Given the description of an element on the screen output the (x, y) to click on. 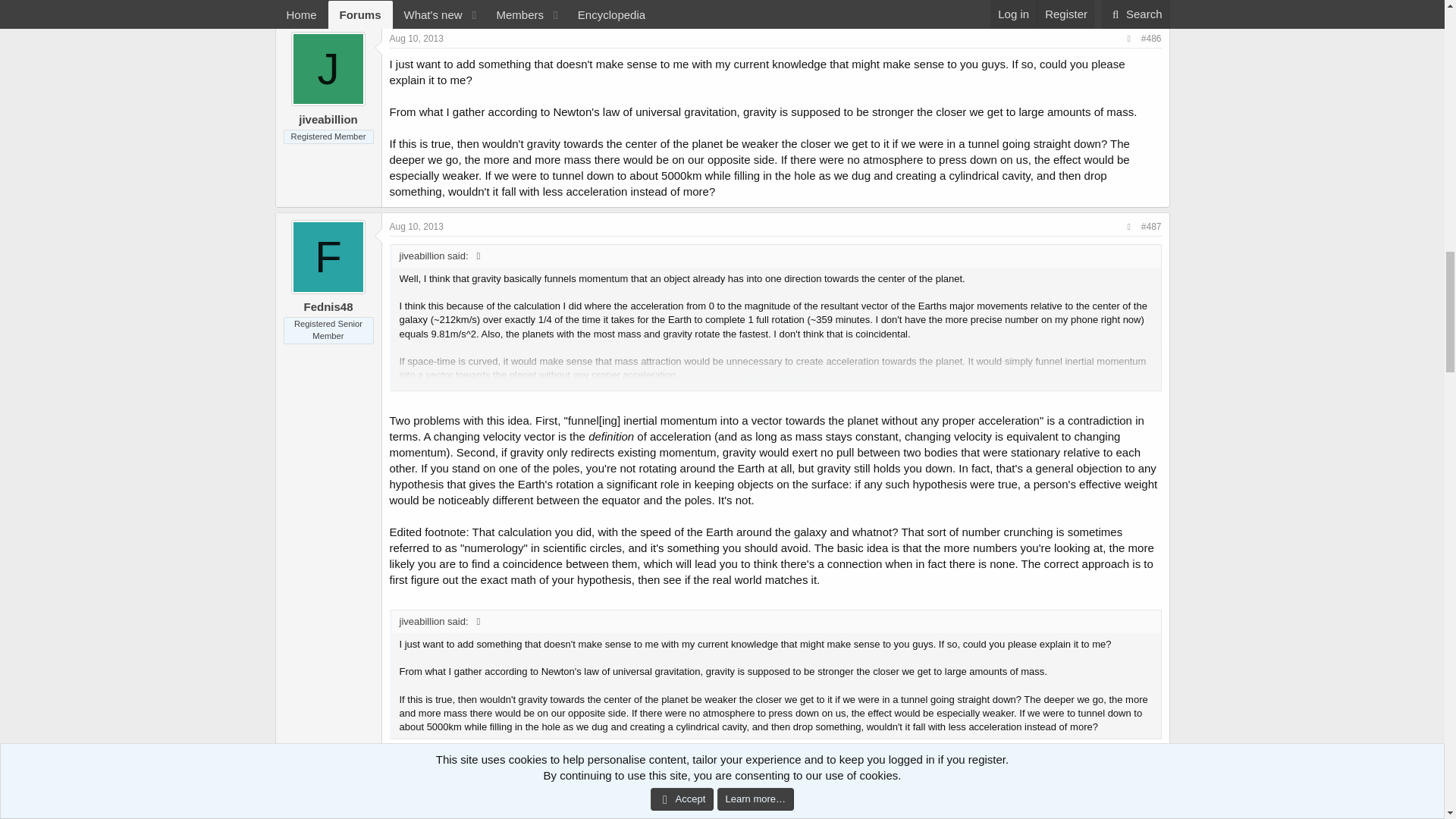
Aug 10, 2013 at 7:41 PM (417, 226)
Aug 10, 2013 at 8:14 PM (417, 816)
Aug 10, 2013 at 7:27 PM (417, 38)
